Given the description of an element on the screen output the (x, y) to click on. 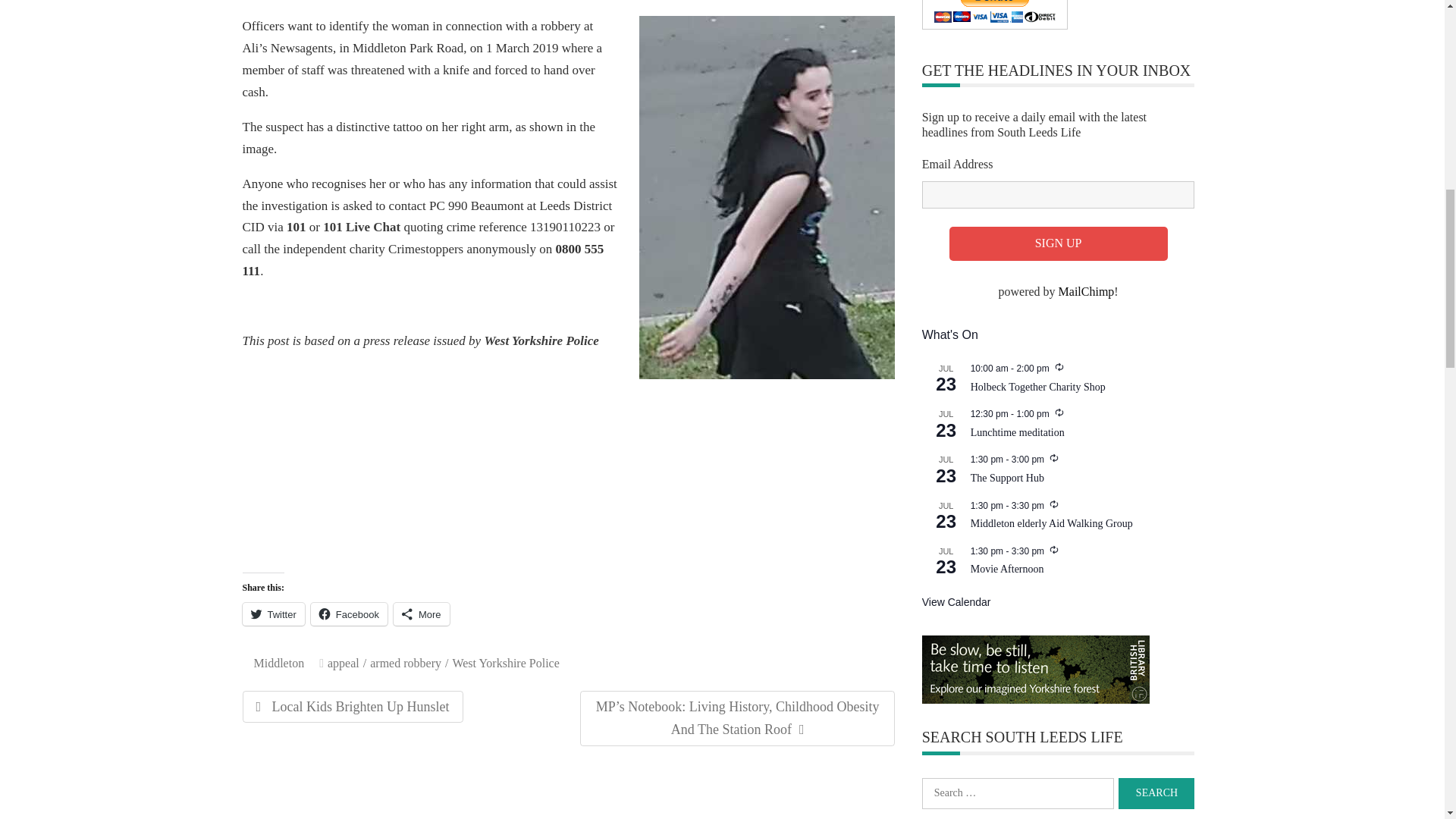
Recurring (1059, 411)
Click to share on Twitter (273, 613)
Lunchtime meditation (1017, 432)
Search (1155, 793)
The Support Hub (1007, 478)
Holbeck Together Charity Shop (1038, 387)
Middleton elderly Aid Walking Group (1051, 523)
Recurring (1053, 503)
Search (1155, 793)
PayPal - The safer, easier way to pay online! (994, 14)
Recurring (1053, 457)
Recurring (1059, 366)
Recurring (1053, 549)
Click to share on Facebook (349, 613)
Sign up (1058, 243)
